Given the description of an element on the screen output the (x, y) to click on. 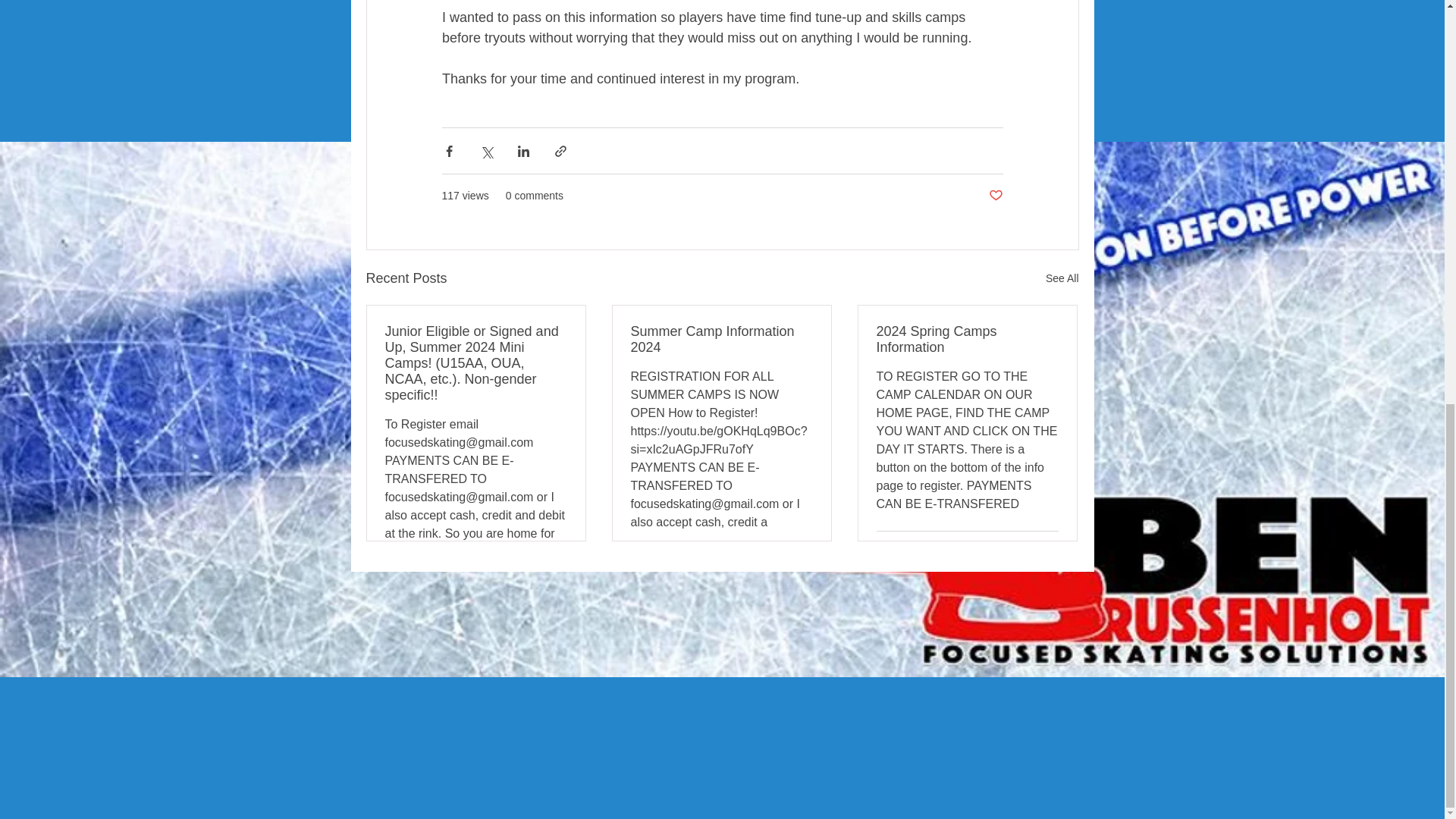
See All (1061, 278)
Post not marked as liked (995, 195)
2024 Spring Camps Information (967, 339)
Summer Camp Information 2024 (721, 339)
